Given the description of an element on the screen output the (x, y) to click on. 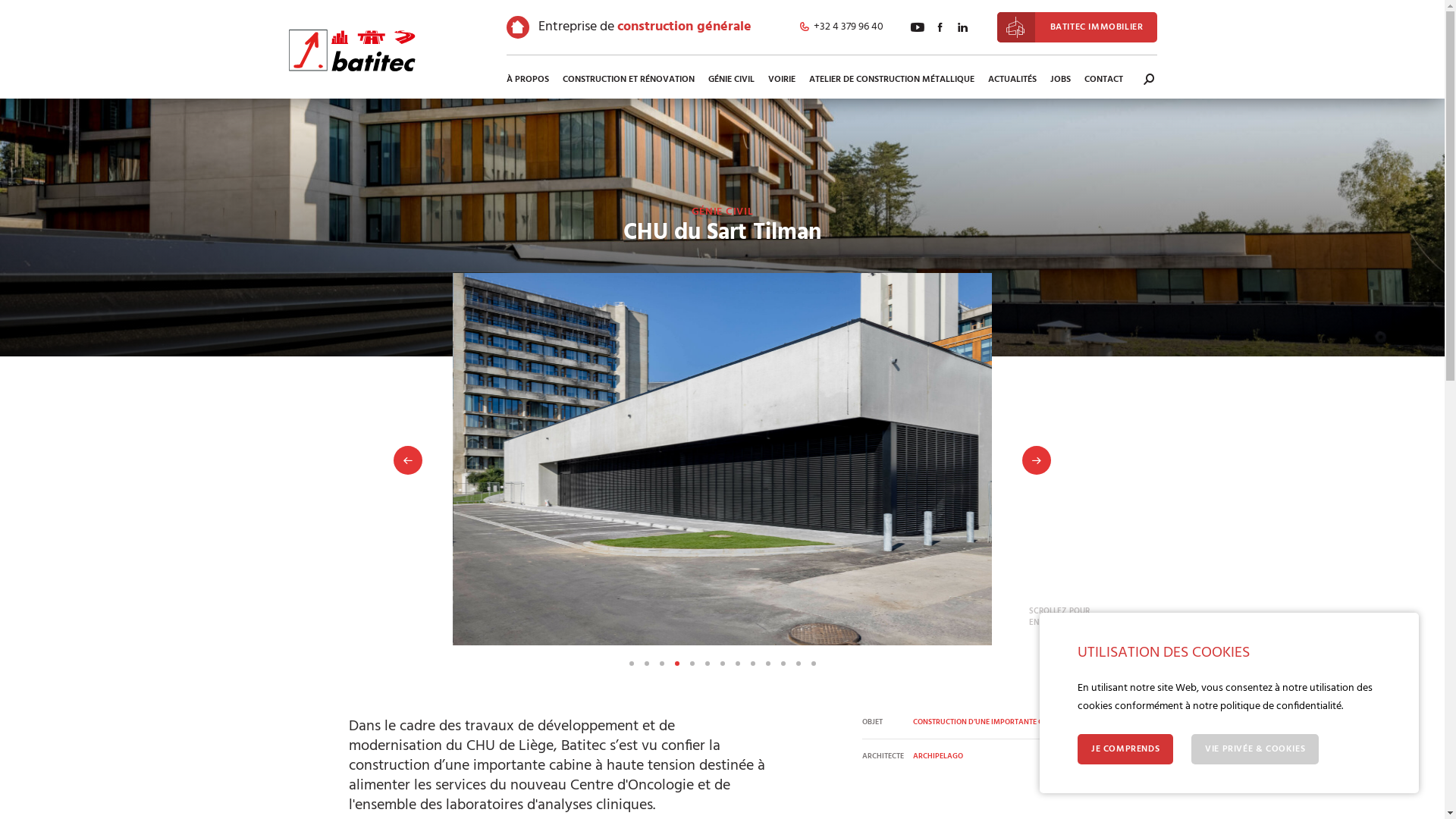
+32 4 379 96 40 Element type: text (841, 26)
Voir la slide 13 Element type: text (812, 663)
Voir la slide 2 Element type: text (645, 663)
Voir la slide 10 Element type: text (767, 663)
RECHERCHE Element type: text (1148, 78)
Suivez Batitec sur YouTube Element type: text (917, 26)
Voir la slide 8 Element type: text (736, 663)
Voir la slide 6 Element type: text (706, 663)
Voir la slide 9 Element type: text (751, 663)
Voir la slide 5 Element type: text (691, 663)
BATITEC IMMOBILIER Element type: text (1077, 27)
Voir la slide 1 Element type: text (630, 663)
Suivant Element type: text (1036, 459)
Voir la slide 7 Element type: text (721, 663)
JE COMPRENDS Element type: text (1125, 749)
Voir la slide 12 Element type: text (797, 663)
SCROLLEZ POUR
EN SAVOIR PLUS Element type: text (1059, 616)
JOBS Element type: text (1060, 79)
Suivez Batitec sur LinekdIn Element type: text (962, 26)
Suivez Batitec sur Facebook Element type: text (939, 26)
CONTACT Element type: text (1102, 79)
Voir la slide 3 Element type: text (660, 663)
Voir la slide 11 Element type: text (782, 663)
Voir la slide 4 Element type: text (676, 663)
VOIRIE Element type: text (781, 79)
